Given the description of an element on the screen output the (x, y) to click on. 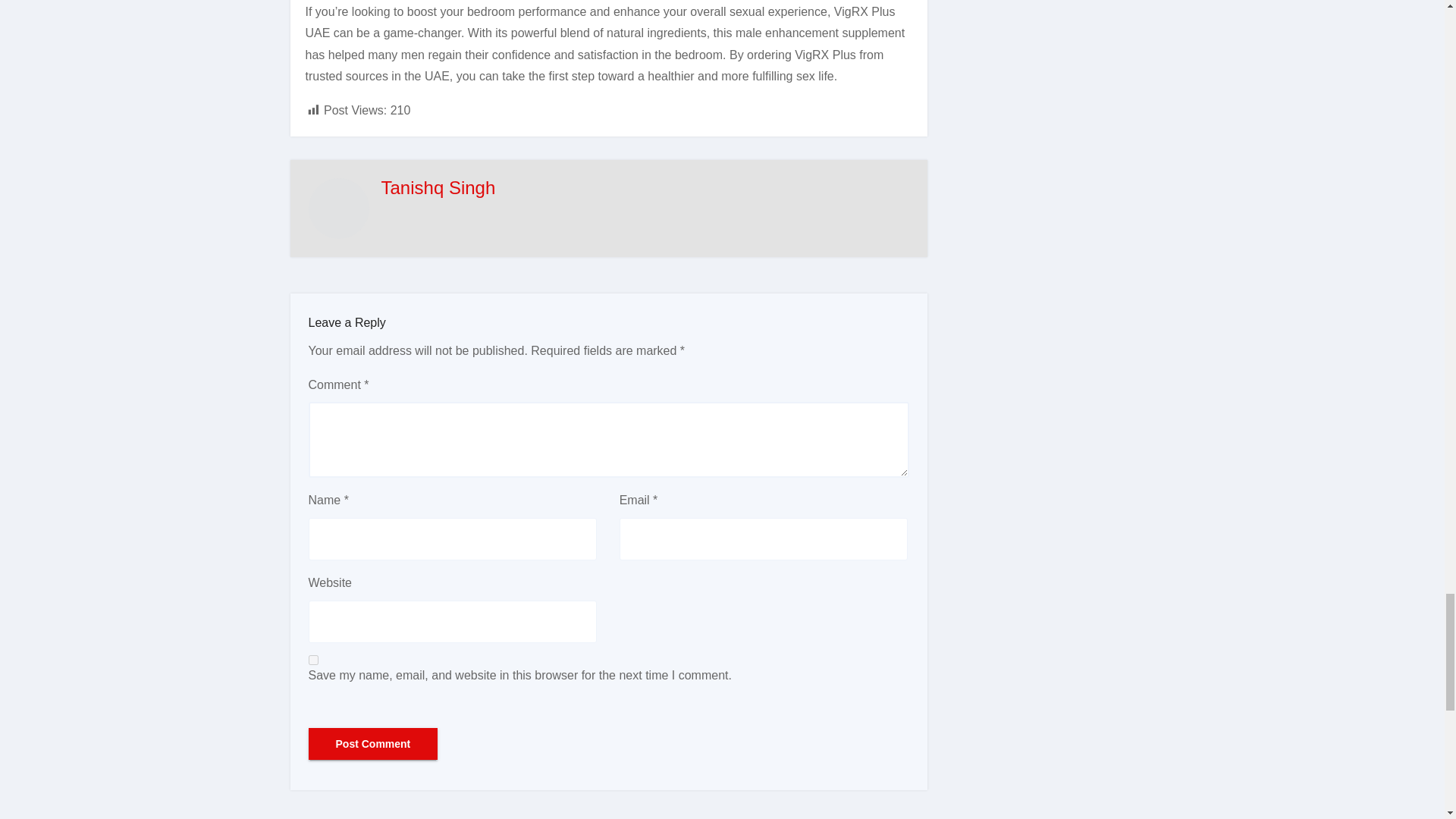
Post Comment (372, 744)
yes (312, 660)
